Given the description of an element on the screen output the (x, y) to click on. 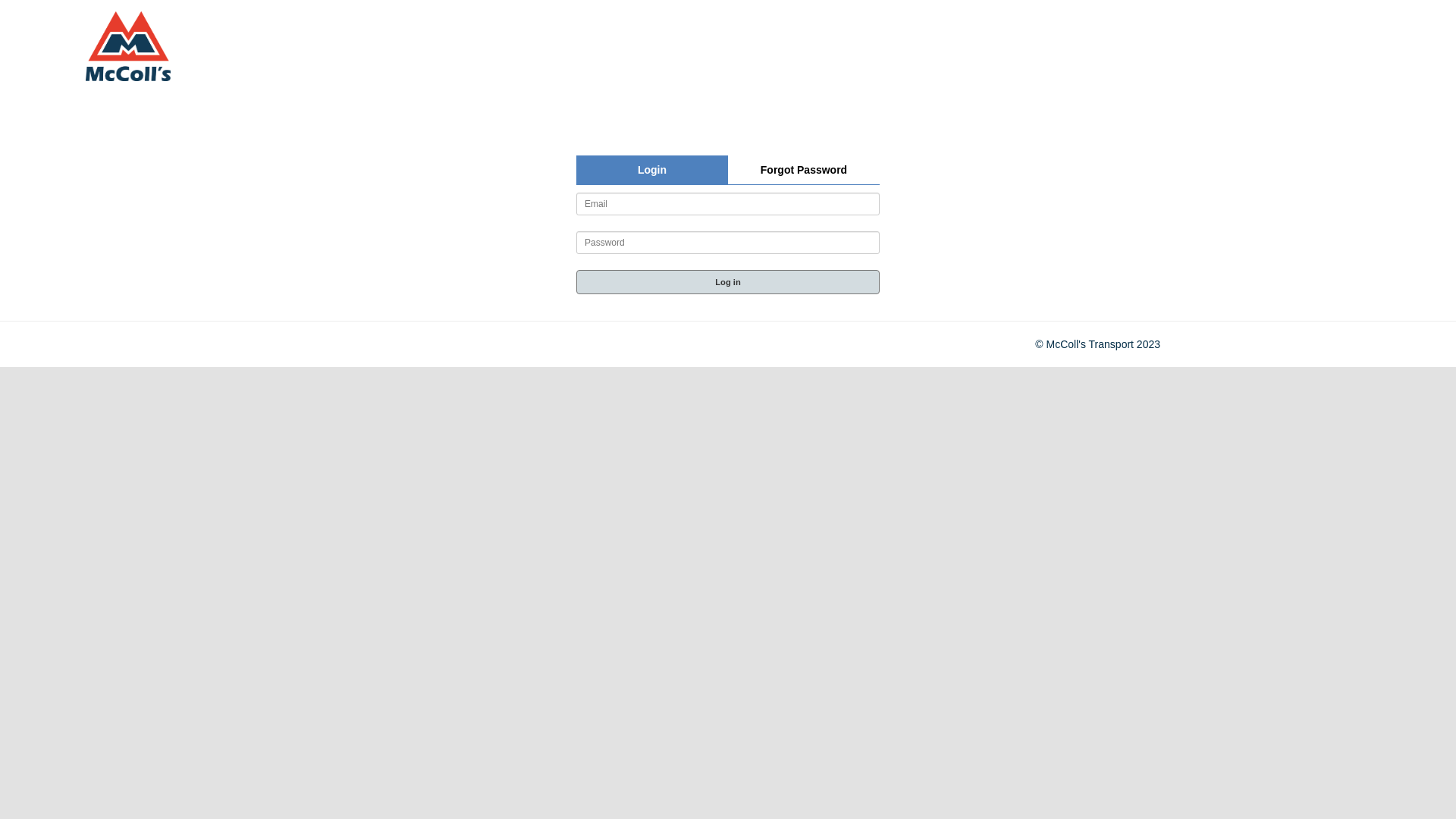
Forgot Password Element type: text (803, 169)
Log in Element type: text (727, 281)
Login Element type: text (652, 169)
